Given the description of an element on the screen output the (x, y) to click on. 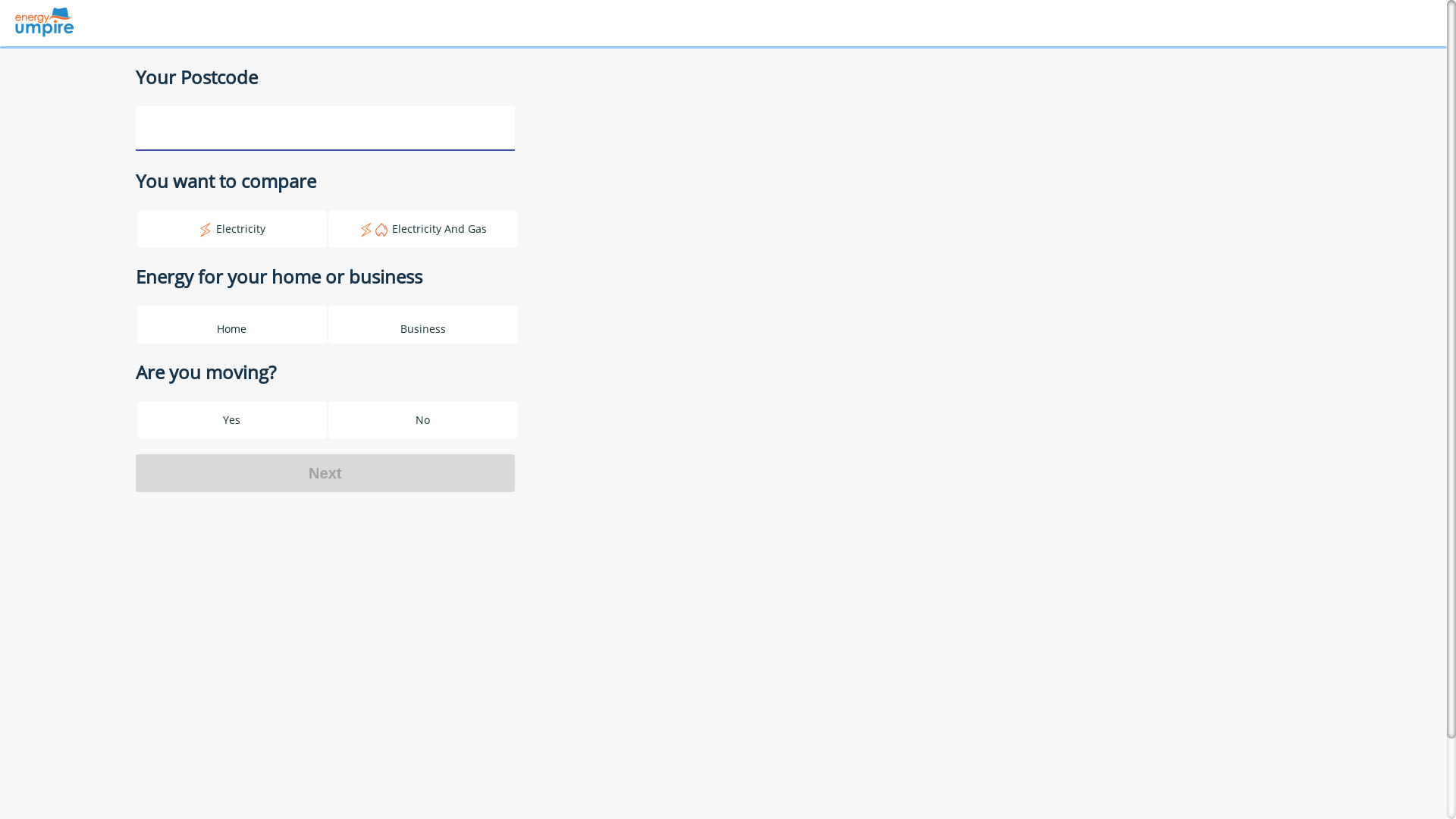
Next Element type: text (324, 472)
